Given the description of an element on the screen output the (x, y) to click on. 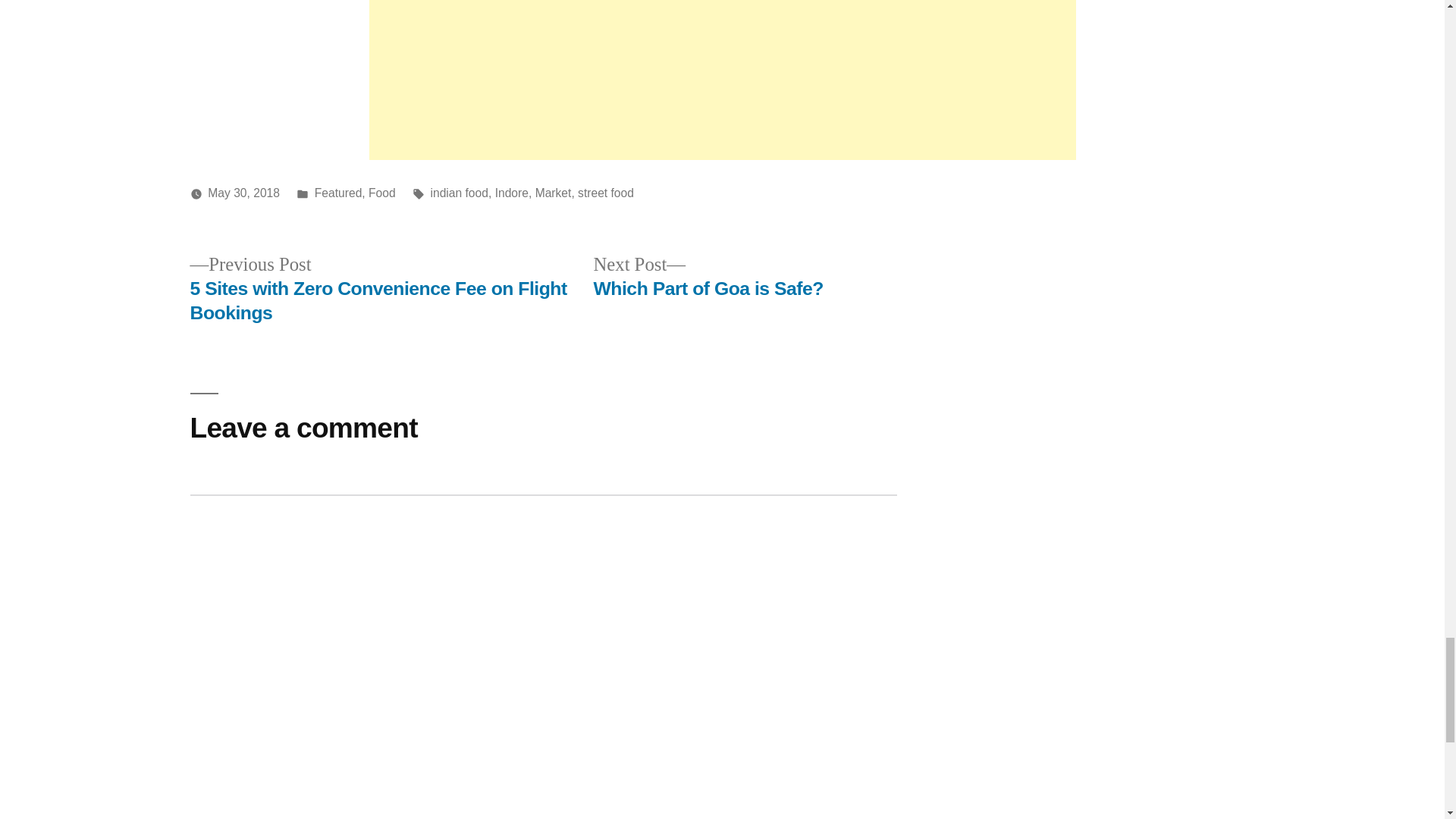
May 30, 2018 (243, 192)
Featured (338, 192)
indian food (458, 192)
Indore (511, 192)
street food (707, 277)
Market (605, 192)
Food (553, 192)
